Given the description of an element on the screen output the (x, y) to click on. 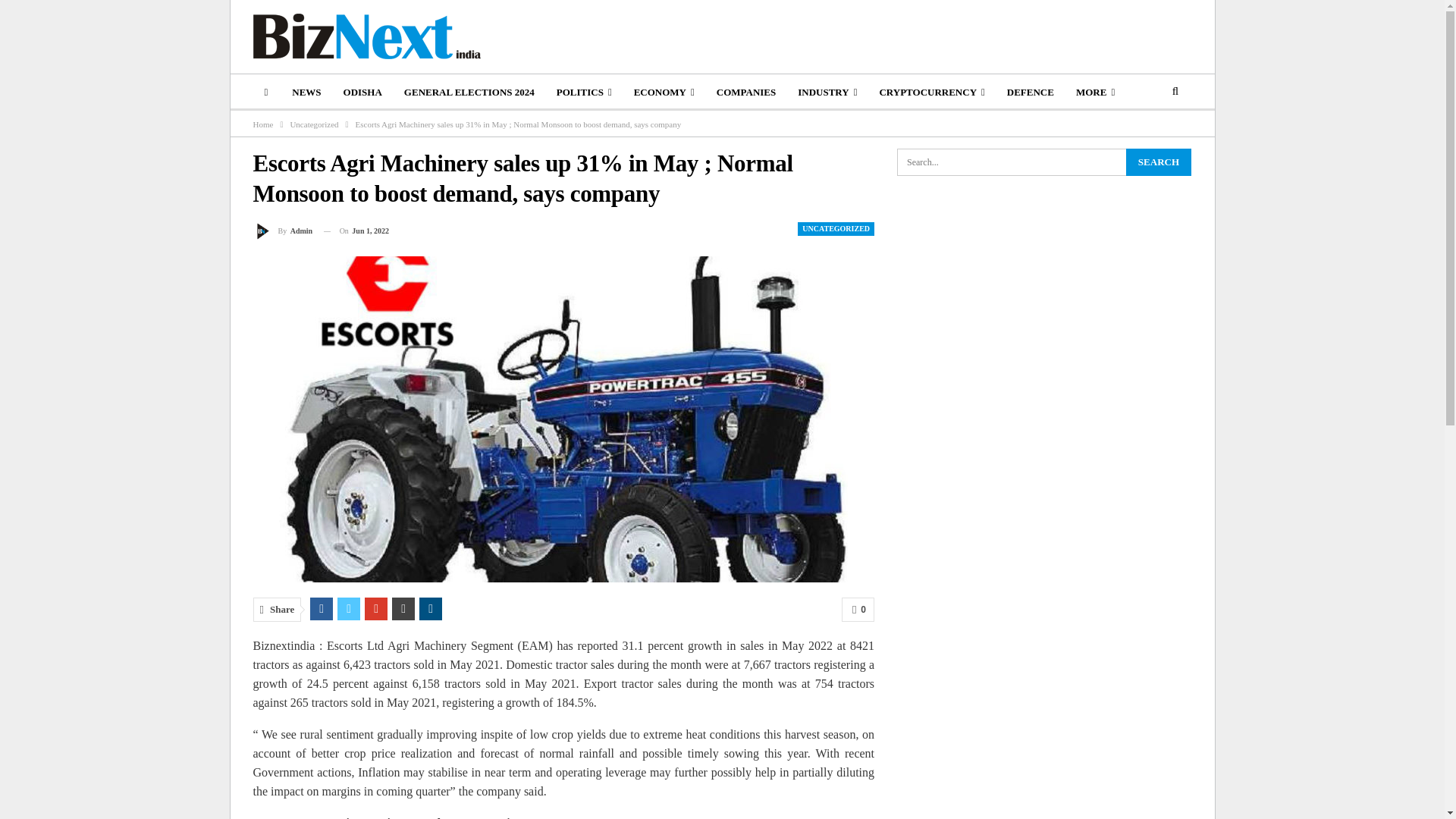
GENERAL ELECTIONS 2024 (468, 92)
Search for: (1043, 162)
ECONOMY (663, 92)
Browse Author Articles (283, 231)
POLITICS (584, 92)
CRYPTOCURRENCY (930, 92)
Uncategorized (313, 124)
ODISHA (362, 92)
COMPANIES (745, 92)
DEFENCE (1029, 92)
0 (858, 609)
Search (1158, 162)
INDUSTRY (827, 92)
MORE (1095, 92)
By Admin (283, 231)
